Given the description of an element on the screen output the (x, y) to click on. 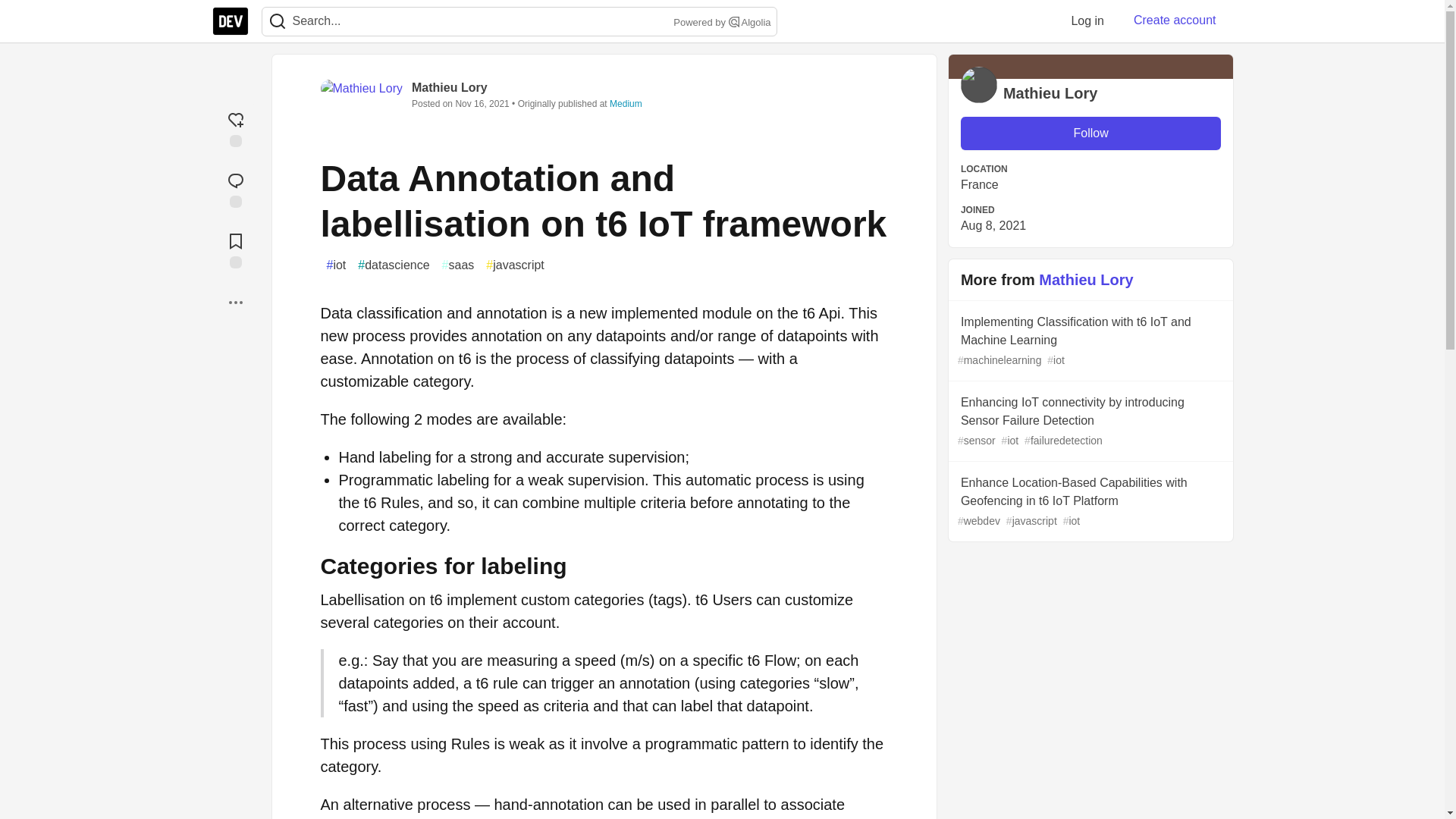
Medium (626, 103)
Powered by Search Algolia (720, 22)
Log in (1087, 20)
Search (734, 21)
More... (234, 302)
Create account (1174, 20)
More... (234, 302)
Search (277, 21)
Search (276, 21)
Mathieu Lory (449, 87)
